Given the description of an element on the screen output the (x, y) to click on. 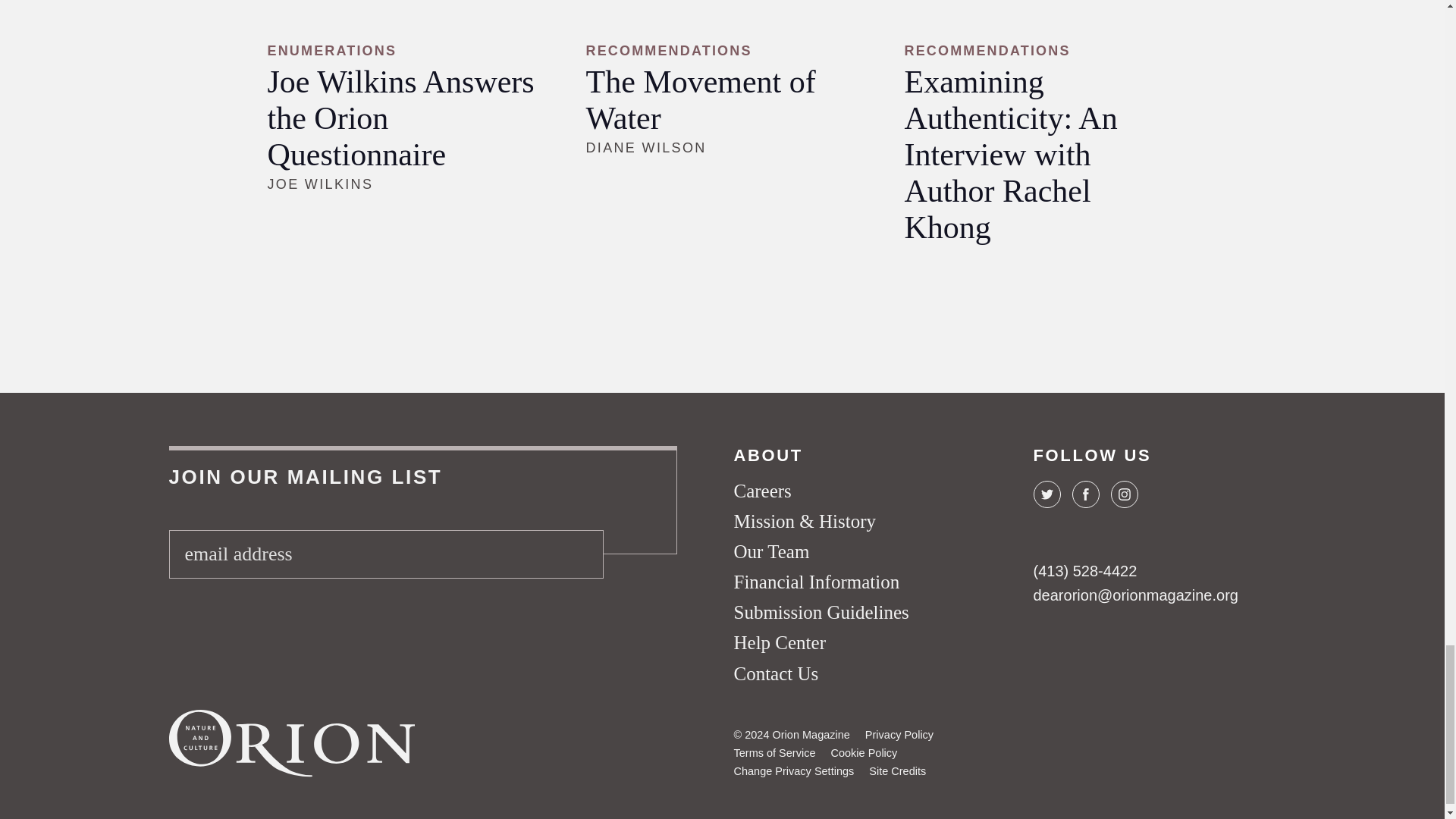
On Twitter (1045, 493)
On Facebook (1085, 493)
On Instagram (1123, 493)
